Given the description of an element on the screen output the (x, y) to click on. 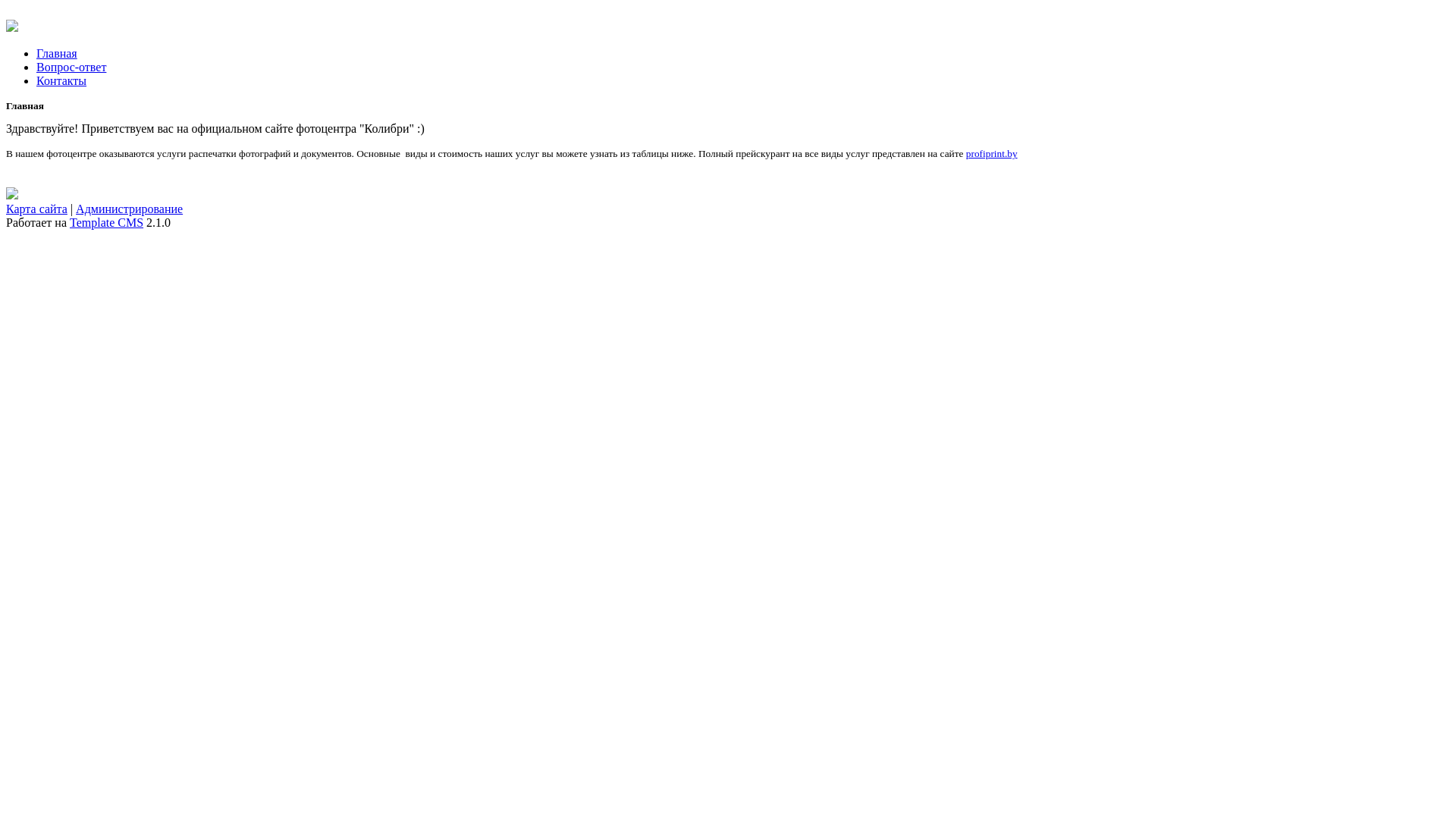
profiprint.by Element type: text (991, 153)
Template CMS Element type: text (106, 222)
